Given the description of an element on the screen output the (x, y) to click on. 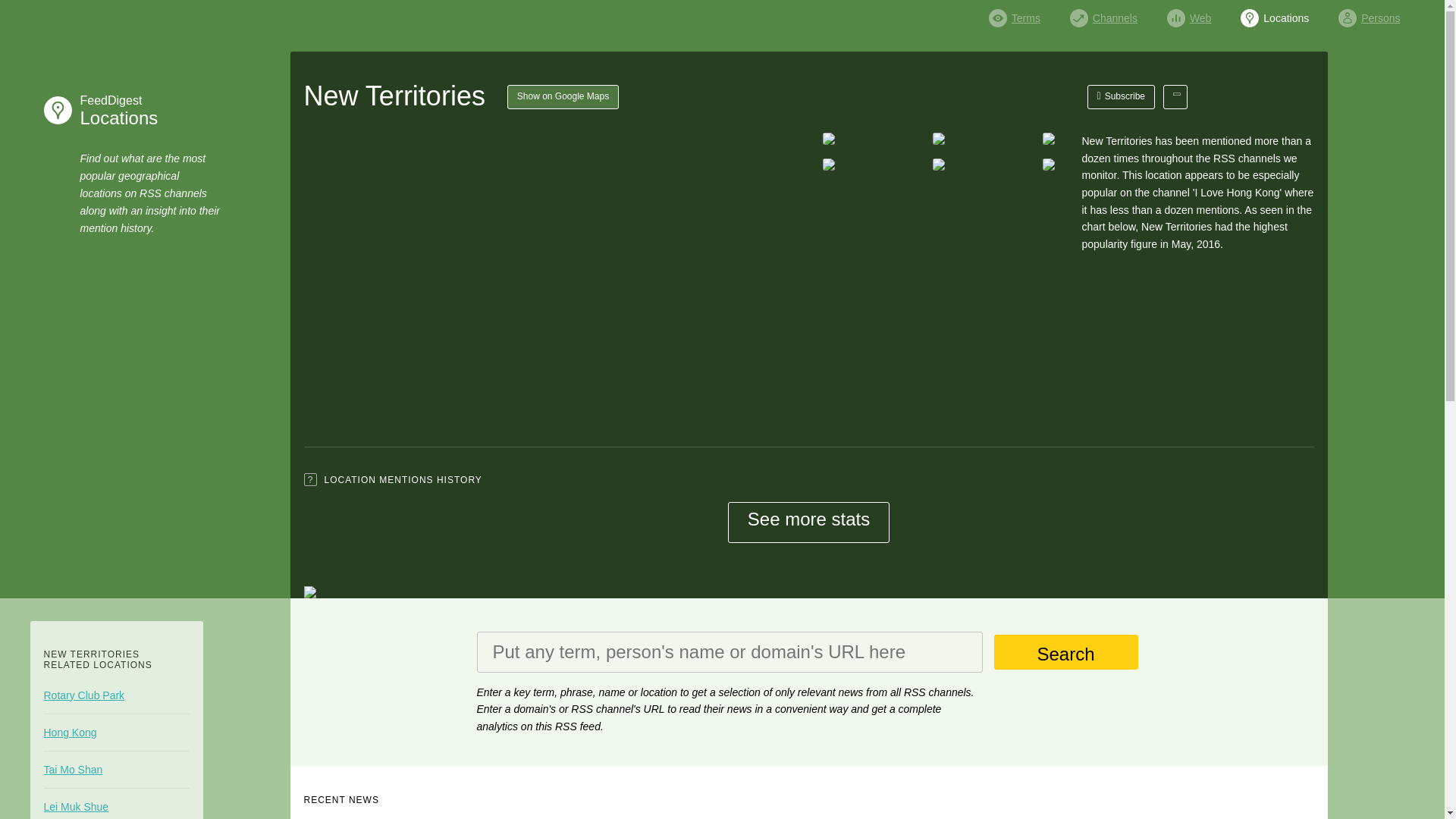
Channels (1103, 14)
Show on Google Maps (562, 96)
Web (1189, 14)
Subscribe (1121, 96)
Persons (1368, 14)
Terms (1014, 14)
See more stats (808, 522)
Locations (1274, 14)
Search (114, 109)
